Given the description of an element on the screen output the (x, y) to click on. 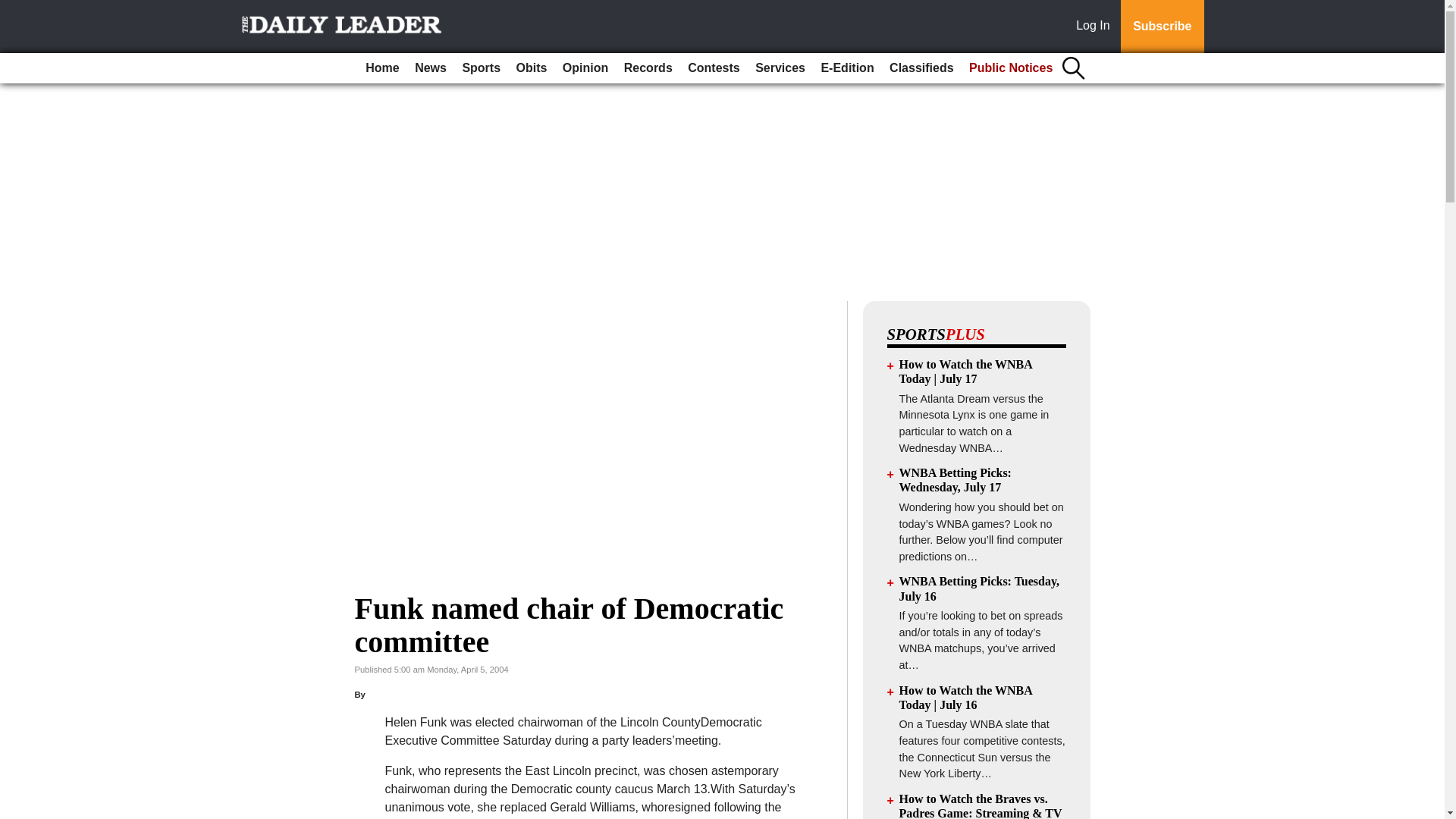
Go (13, 9)
Public Notices (1010, 68)
Classifieds (921, 68)
Services (779, 68)
Contests (713, 68)
WNBA Betting Picks: Wednesday, July 17 (955, 479)
WNBA Betting Picks: Tuesday, July 16 (979, 587)
Opinion (585, 68)
Records (647, 68)
Log In (1095, 26)
Subscribe (1162, 26)
News (430, 68)
Sports (480, 68)
E-Edition (846, 68)
Obits (532, 68)
